Given the description of an element on the screen output the (x, y) to click on. 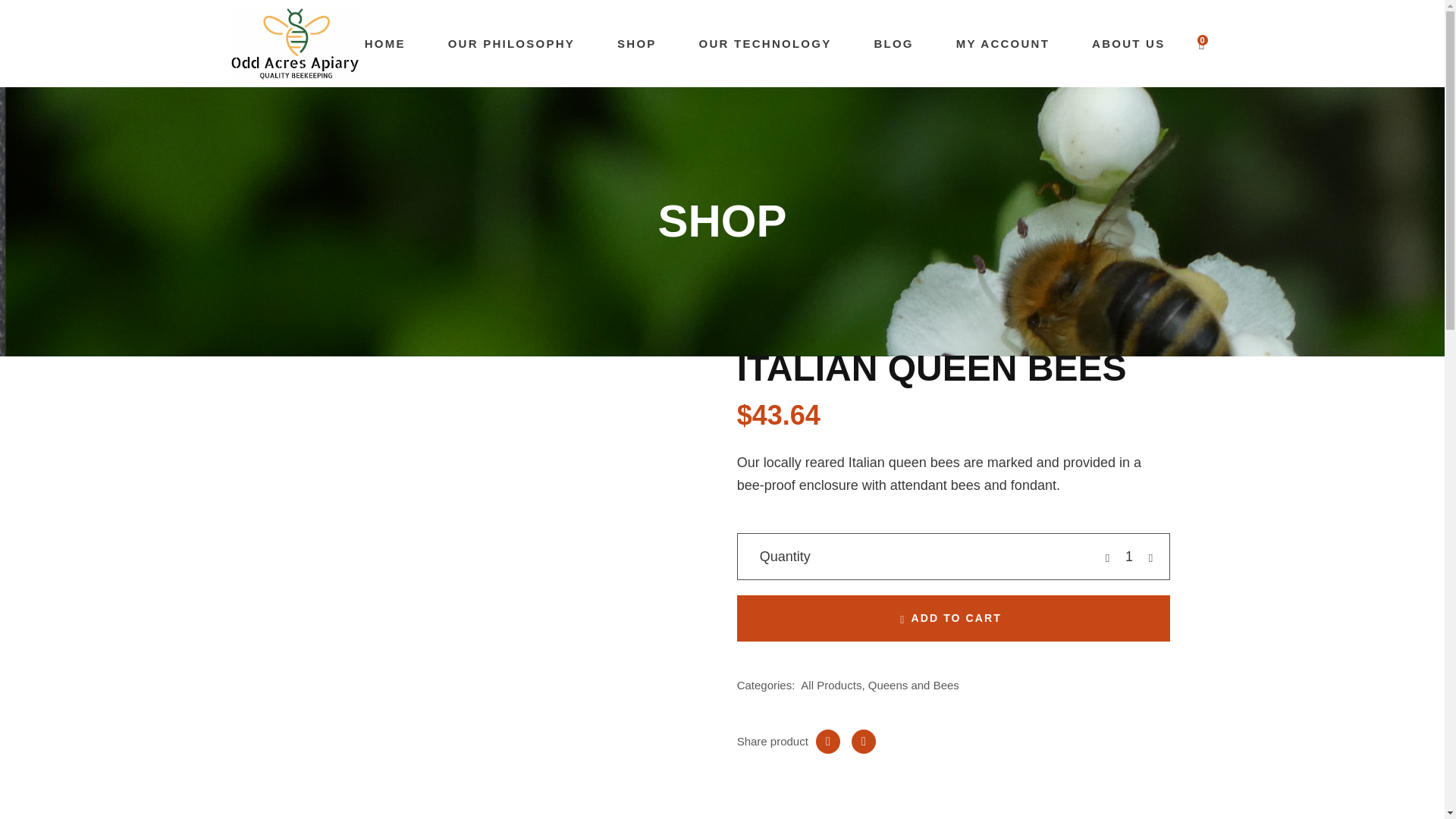
OUR TECHNOLOGY (764, 43)
MY ACCOUNT (1002, 43)
Queens and Bees (913, 684)
All Products (830, 684)
ADD TO CART (953, 618)
OUR PHILOSOPHY (511, 43)
